Given the description of an element on the screen output the (x, y) to click on. 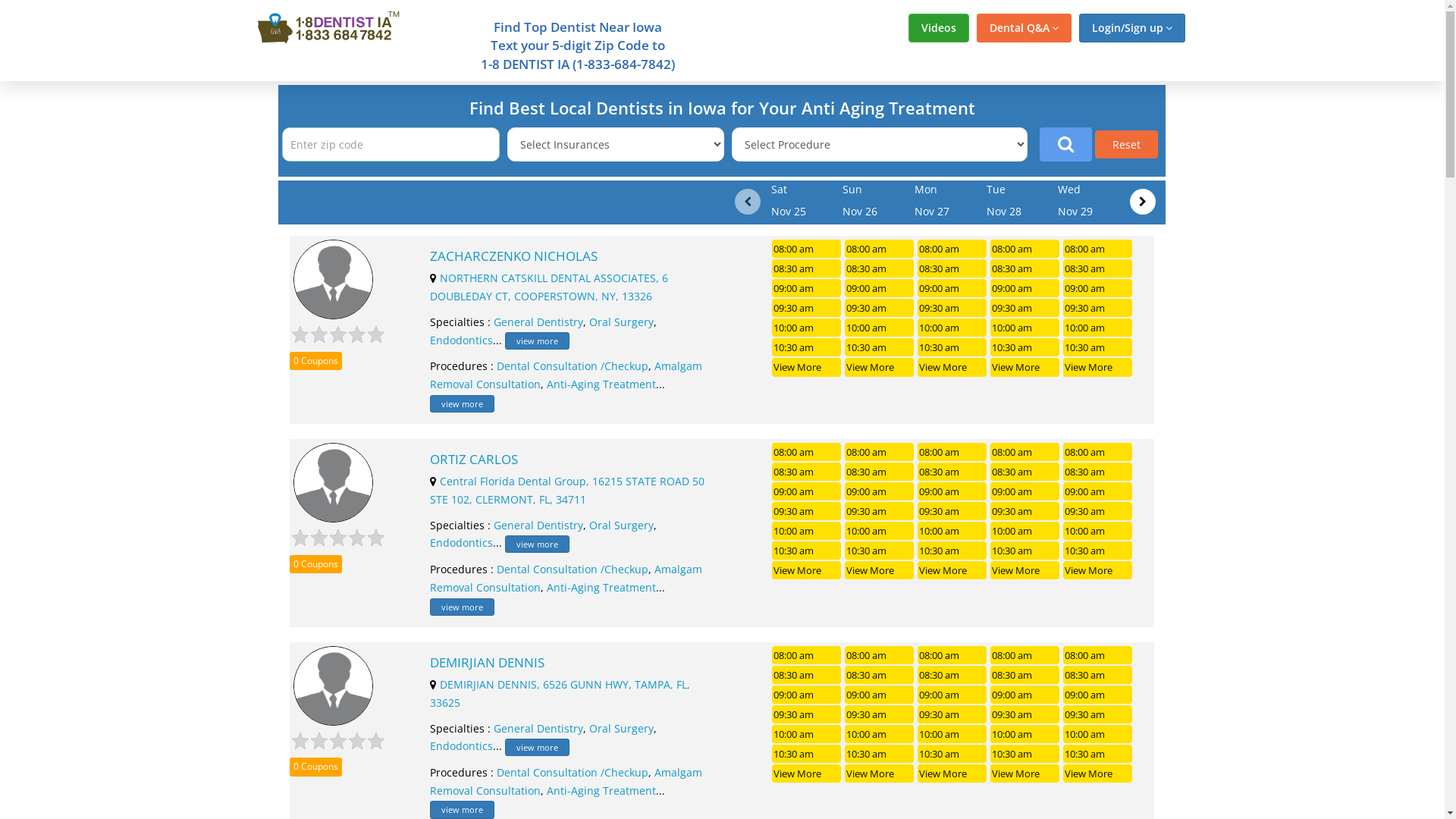
09:00 am Element type: text (1024, 491)
09:00 am Element type: text (878, 491)
Reset Element type: text (1126, 144)
09:30 am Element type: text (1097, 714)
09:00 am Element type: text (1097, 491)
09:00 am Element type: text (951, 288)
09:30 am Element type: text (878, 307)
View More Element type: text (951, 366)
09:30 am Element type: text (951, 511)
Advertisement Element type: hover (129, 308)
DEMIRJIAN DENNIS Element type: text (567, 662)
view more Element type: text (461, 403)
10:30 am Element type: text (1097, 550)
10:00 am Element type: text (805, 327)
08:00 am Element type: text (878, 655)
Dental Consultation /Checkup Element type: text (572, 772)
09:00 am Element type: text (1024, 288)
08:00 am Element type: text (1097, 248)
view more Element type: text (461, 606)
View More Element type: text (1024, 773)
08:00 am Element type: text (951, 248)
10:30 am Element type: text (878, 550)
Endodontics Element type: text (460, 339)
08:30 am Element type: text (878, 471)
View More Element type: text (1024, 366)
09:30 am Element type: text (1024, 714)
View More Element type: text (1024, 570)
Advertisement Element type: hover (1313, 308)
Dental Consultation /Checkup Element type: text (572, 365)
10:30 am Element type: text (878, 347)
10:00 am Element type: text (878, 733)
09:30 am Element type: text (1024, 307)
09:30 am Element type: text (878, 714)
08:00 am Element type: text (805, 655)
10:00 am Element type: text (951, 530)
08:30 am Element type: text (1024, 268)
Login/Sign up Element type: text (1131, 27)
08:00 am Element type: text (1097, 451)
10:30 am Element type: text (1097, 753)
09:30 am Element type: text (805, 307)
10:00 am Element type: text (1024, 733)
0 Coupons Element type: text (315, 360)
10:30 am Element type: text (805, 550)
08:30 am Element type: text (951, 674)
10:00 am Element type: text (878, 530)
08:30 am Element type: text (878, 674)
Oral Surgery Element type: text (621, 321)
Anti-Aging Treatment Element type: text (600, 383)
08:00 am Element type: text (878, 451)
08:30 am Element type: text (805, 471)
09:00 am Element type: text (951, 491)
08:30 am Element type: text (878, 268)
08:30 am Element type: text (951, 268)
Anti-Aging Treatment Element type: text (600, 790)
09:30 am Element type: text (951, 307)
10:00 am Element type: text (805, 530)
View More Element type: text (1097, 570)
09:30 am Element type: text (1097, 307)
Videos Element type: text (938, 27)
10:30 am Element type: text (951, 753)
General Dentistry Element type: text (538, 728)
view more Element type: text (537, 543)
08:00 am Element type: text (951, 451)
09:30 am Element type: text (951, 714)
10:00 am Element type: text (1097, 327)
view more Element type: text (537, 747)
View More Element type: text (1097, 773)
10:30 am Element type: text (805, 753)
08:30 am Element type: text (951, 471)
09:00 am Element type: text (1097, 694)
10:00 am Element type: text (878, 327)
ORTIZ CARLOS Element type: text (567, 459)
View More Element type: text (878, 570)
Amalgam Removal Consultation Element type: text (565, 577)
10:30 am Element type: text (878, 753)
10:30 am Element type: text (1024, 347)
08:30 am Element type: text (1024, 674)
09:30 am Element type: text (805, 714)
View More Element type: text (805, 773)
10:00 am Element type: text (1097, 733)
08:00 am Element type: text (805, 451)
General Dentistry Element type: text (538, 524)
Amalgam Removal Consultation Element type: text (565, 781)
09:30 am Element type: text (878, 511)
view more Element type: text (537, 340)
View More Element type: text (805, 366)
10:00 am Element type: text (1024, 327)
08:00 am Element type: text (878, 248)
View More Element type: text (951, 570)
09:00 am Element type: text (951, 694)
View More Element type: text (878, 366)
10:30 am Element type: text (1097, 347)
DEMIRJIAN DENNIS, 6526 GUNN HWY, TAMPA, FL, 33625 Element type: text (559, 693)
09:00 am Element type: text (1097, 288)
08:00 am Element type: text (951, 655)
Anti-Aging Treatment Element type: text (600, 587)
0 Coupons Element type: text (315, 564)
General Dentistry Element type: text (538, 321)
10:00 am Element type: text (1097, 530)
10:00 am Element type: text (951, 327)
09:30 am Element type: text (1097, 511)
Endodontics Element type: text (460, 542)
09:30 am Element type: text (805, 511)
08:30 am Element type: text (1024, 471)
08:30 am Element type: text (1097, 268)
08:30 am Element type: text (805, 268)
10:00 am Element type: text (805, 733)
09:00 am Element type: text (878, 694)
08:00 am Element type: text (1097, 655)
ZACHARCZENKO NICHOLAS Element type: text (567, 256)
Dental Consultation /Checkup Element type: text (572, 568)
Endodontics Element type: text (460, 745)
08:30 am Element type: text (1097, 471)
09:00 am Element type: text (805, 288)
Amalgam Removal Consultation Element type: text (565, 374)
09:00 am Element type: text (878, 288)
View More Element type: text (951, 773)
10:00 am Element type: text (1024, 530)
Dental Q&A Element type: text (1023, 27)
View More Element type: text (805, 570)
Oral Surgery Element type: text (621, 524)
09:00 am Element type: text (805, 491)
10:30 am Element type: text (951, 550)
View More Element type: text (1097, 366)
View More Element type: text (878, 773)
08:00 am Element type: text (1024, 655)
09:00 am Element type: text (805, 694)
10:30 am Element type: text (951, 347)
09:30 am Element type: text (1024, 511)
10:30 am Element type: text (1024, 753)
10:00 am Element type: text (951, 733)
10:30 am Element type: text (805, 347)
Oral Surgery Element type: text (621, 728)
view more Element type: text (461, 809)
0 Coupons Element type: text (315, 766)
09:00 am Element type: text (1024, 694)
08:00 am Element type: text (805, 248)
10:30 am Element type: text (1024, 550)
08:30 am Element type: text (805, 674)
08:00 am Element type: text (1024, 248)
08:30 am Element type: text (1097, 674)
08:00 am Element type: text (1024, 451)
